Given the description of an element on the screen output the (x, y) to click on. 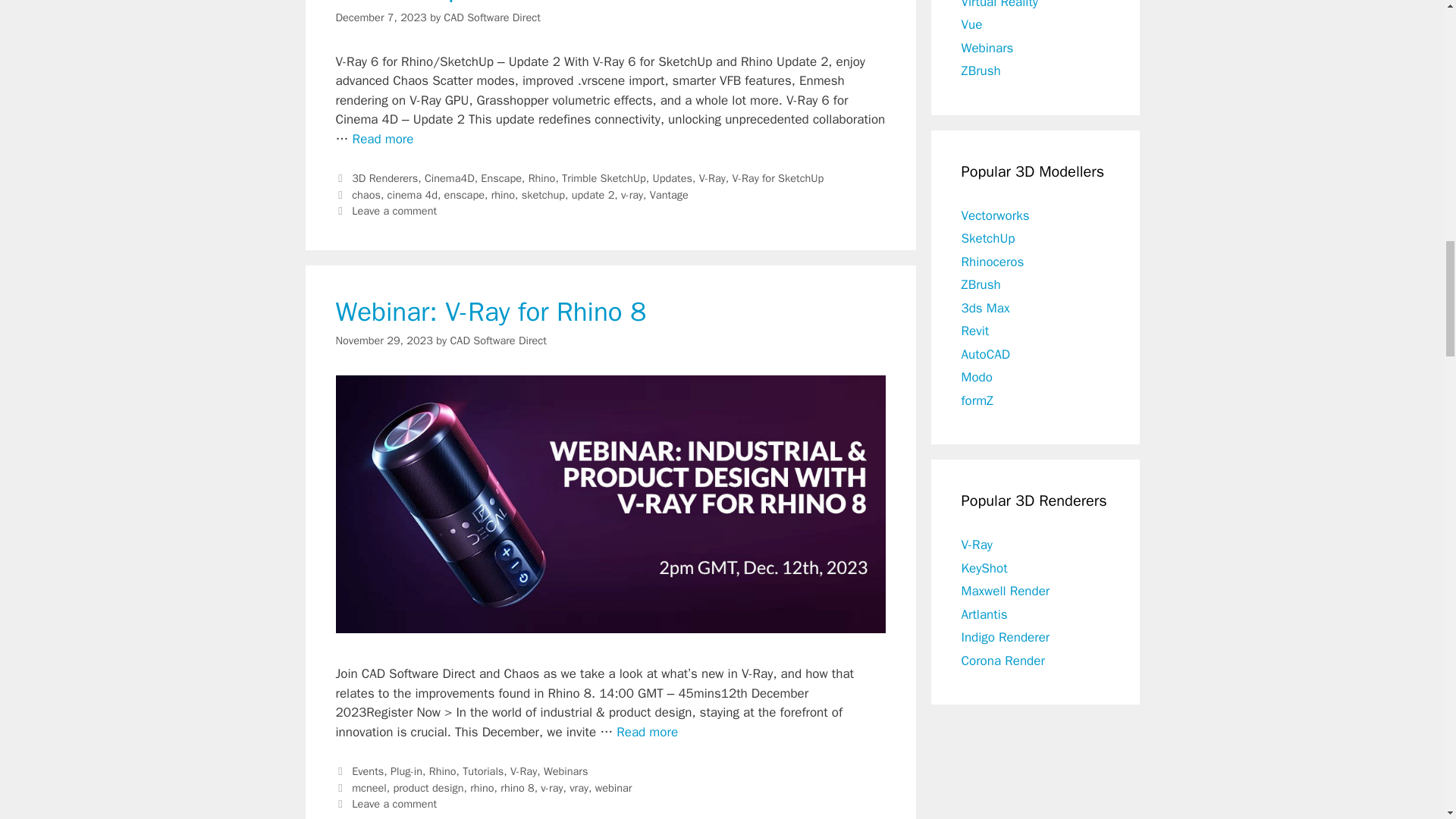
Webinar: V-Ray for Rhino 8 (646, 731)
View all posts by CAD Software Direct (492, 17)
View all posts by CAD Software Direct (497, 340)
